Given the description of an element on the screen output the (x, y) to click on. 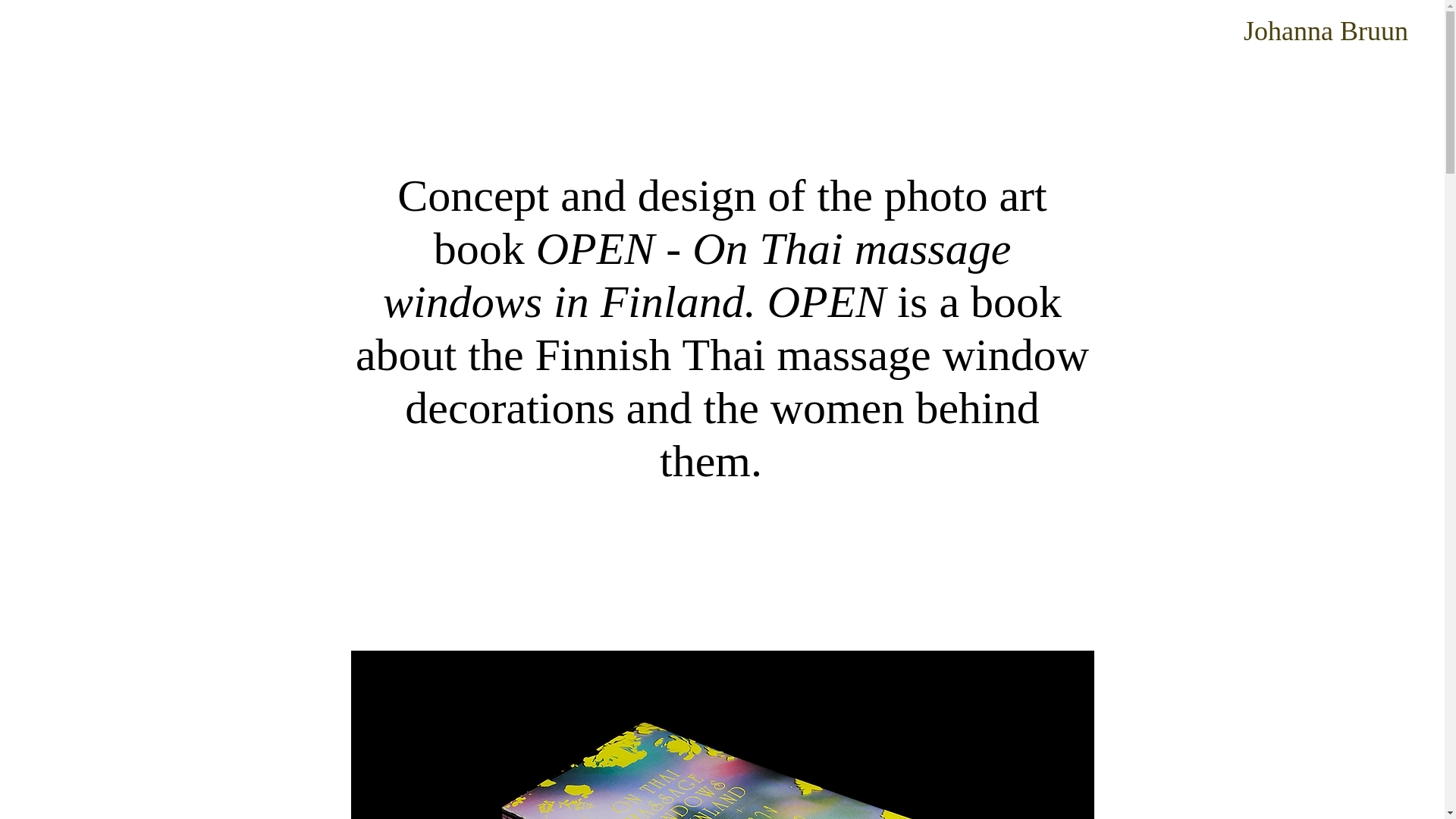
Johanna Bruun (1325, 30)
